Given the description of an element on the screen output the (x, y) to click on. 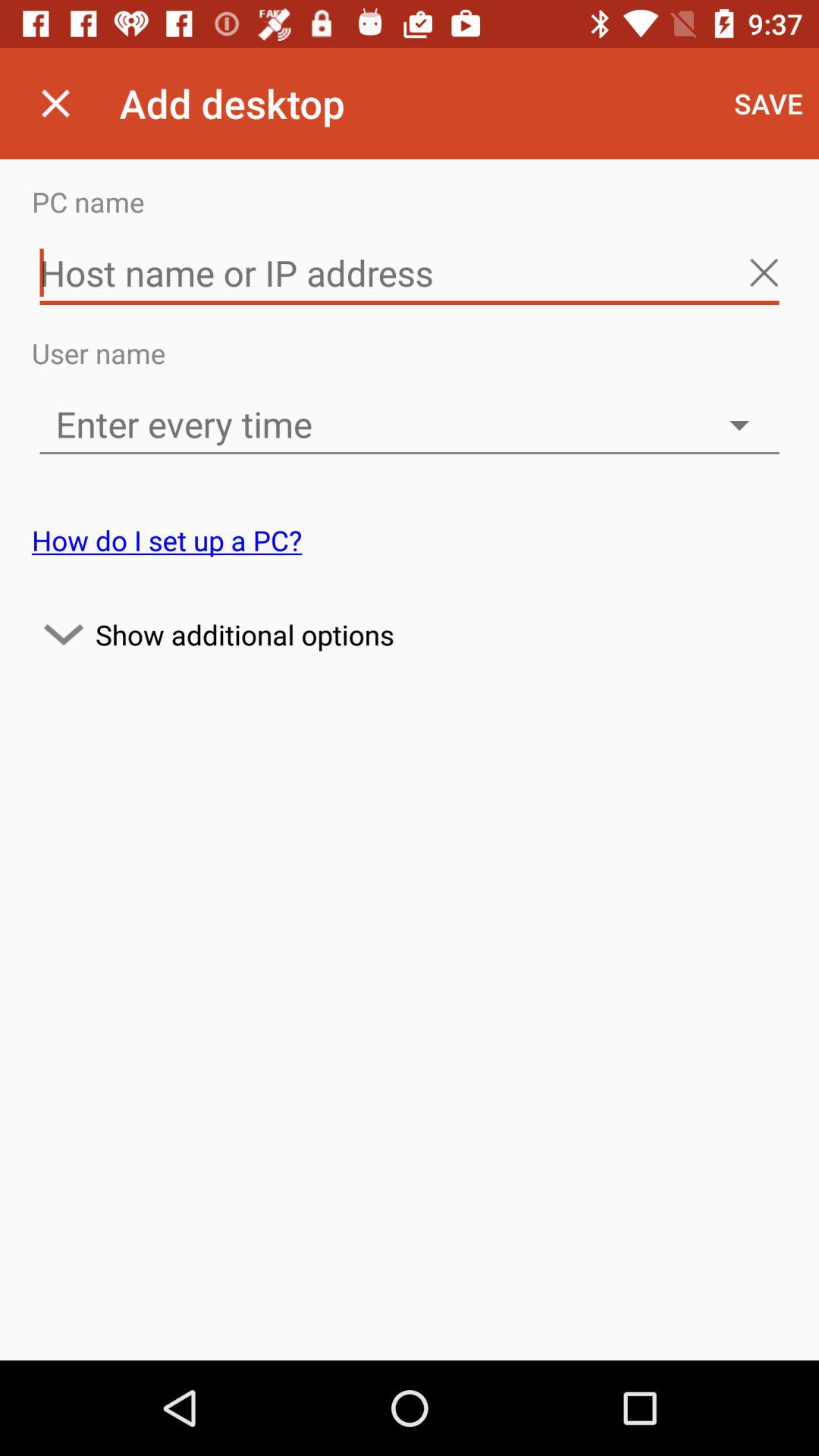
choose the item to the left of the add desktop (55, 103)
